Given the description of an element on the screen output the (x, y) to click on. 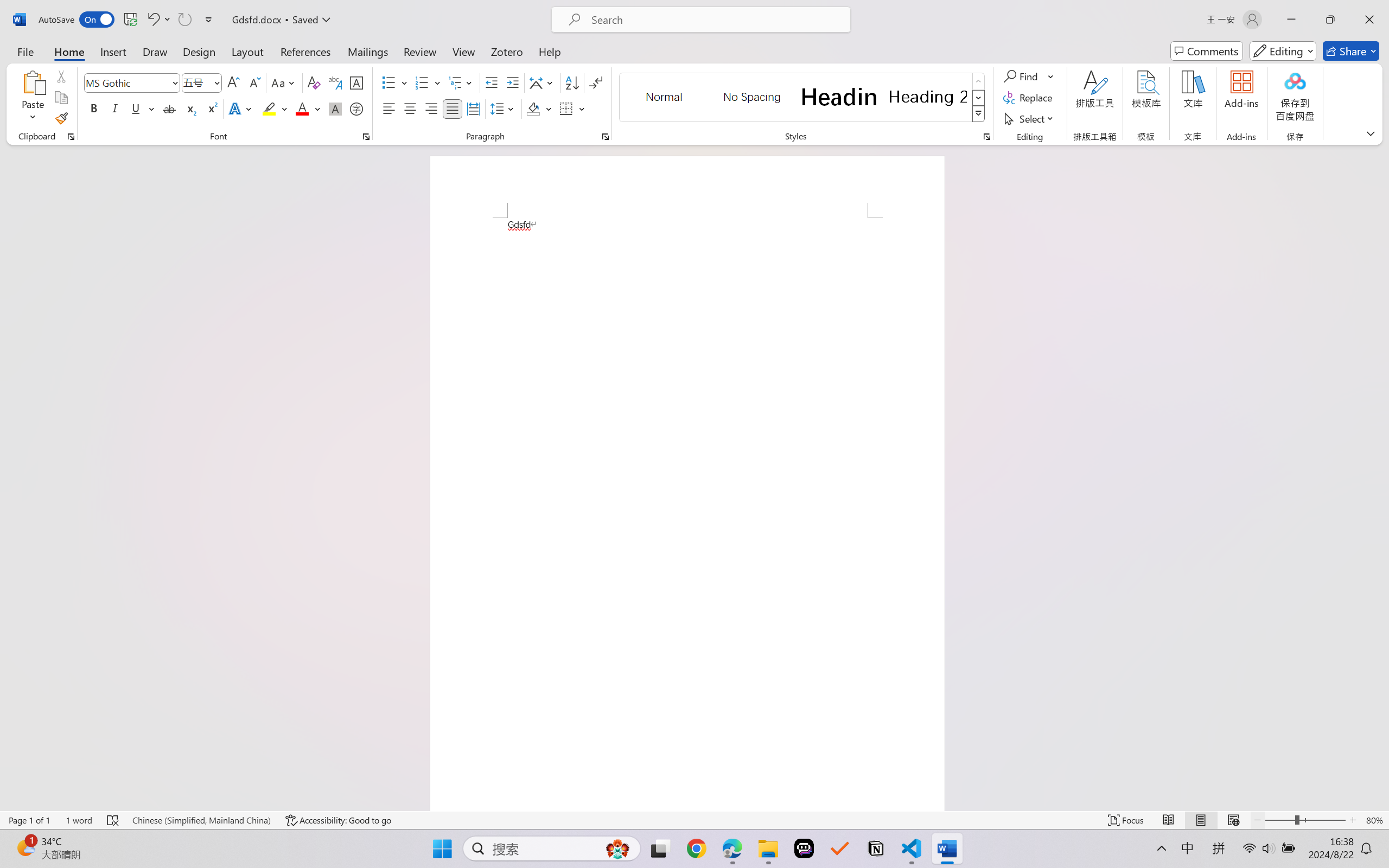
AutomationID: QuickStylesGallery (802, 97)
Page 1 content (686, 513)
